Given the description of an element on the screen output the (x, y) to click on. 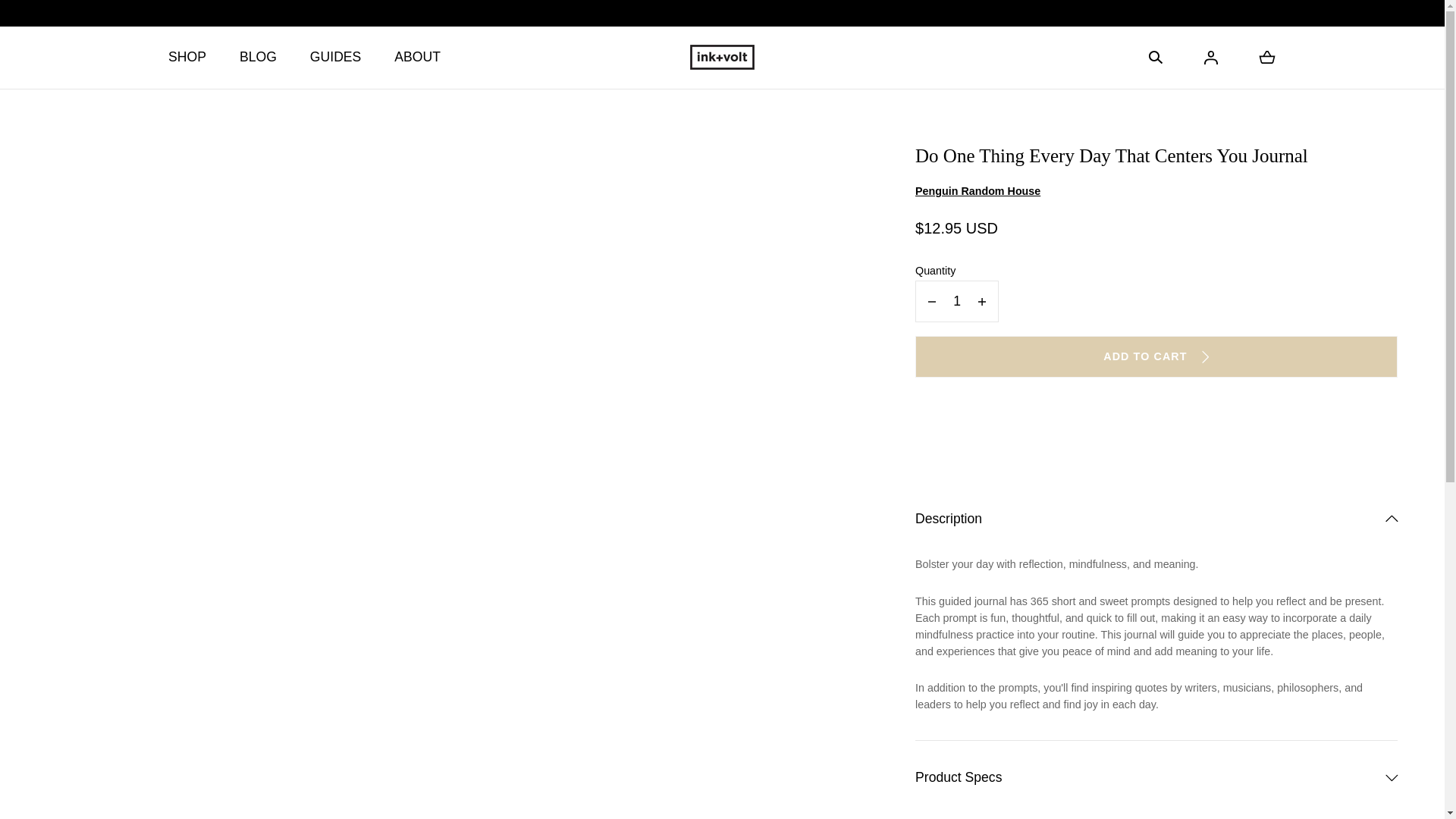
Penguin Random House (1156, 190)
SKIP TO CONTENT (88, 20)
1 (956, 301)
